Given the description of an element on the screen output the (x, y) to click on. 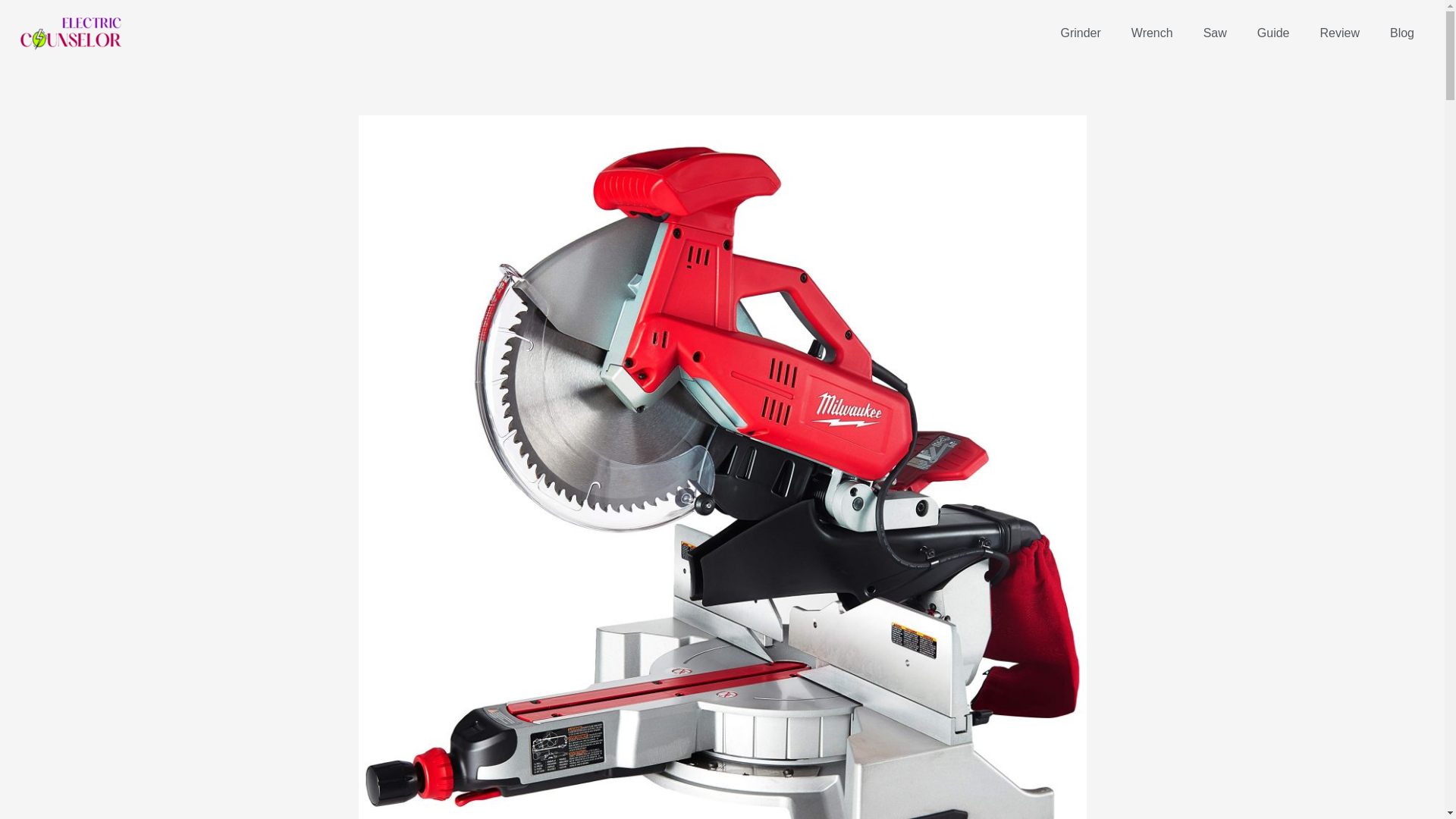
Blog (1401, 32)
Guide (1272, 32)
Saw (1214, 32)
Wrench (1152, 32)
Review (1339, 32)
Grinder (1080, 32)
